Given the description of an element on the screen output the (x, y) to click on. 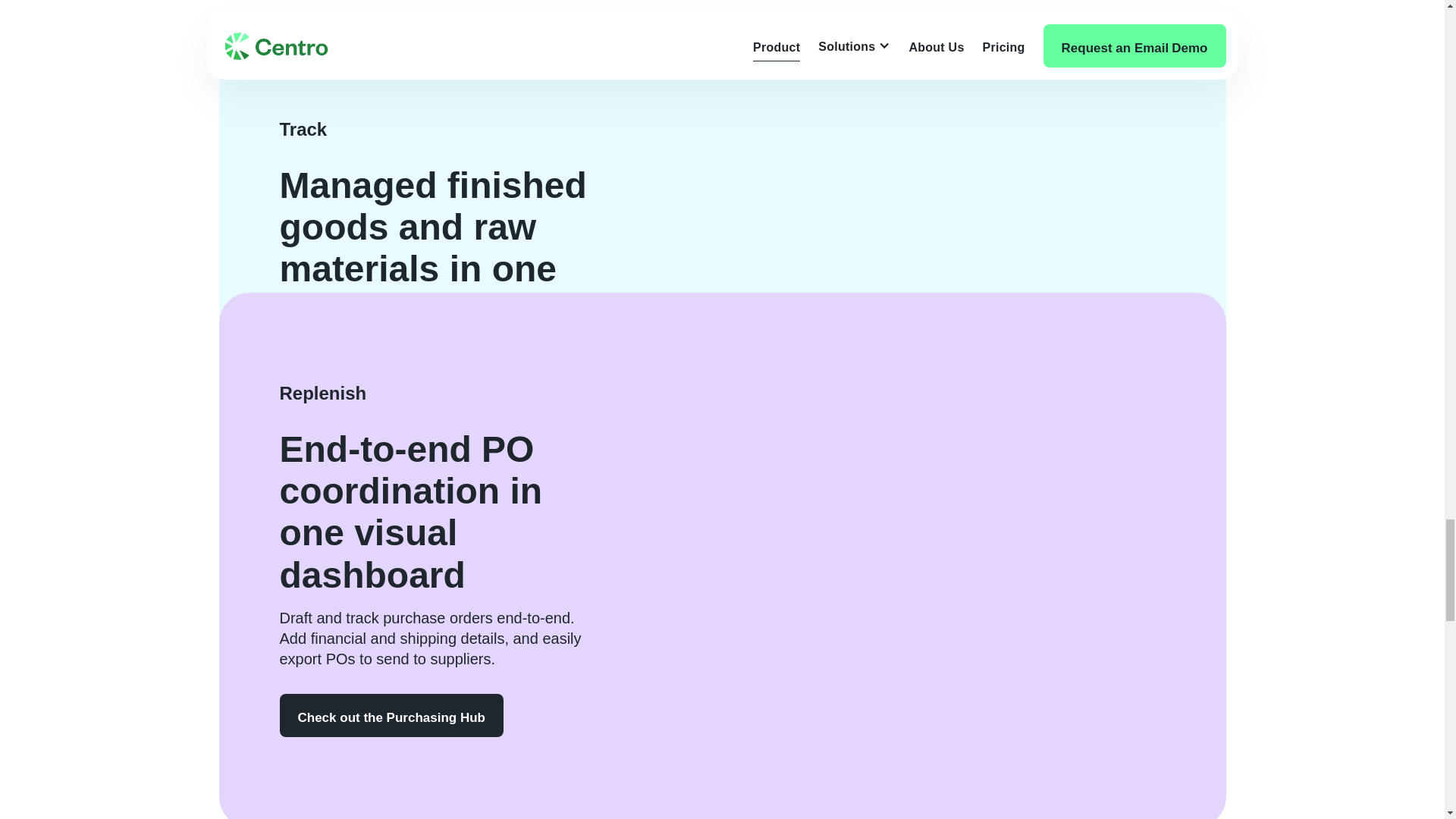
Check out the Purchasing Hub (390, 715)
